Given the description of an element on the screen output the (x, y) to click on. 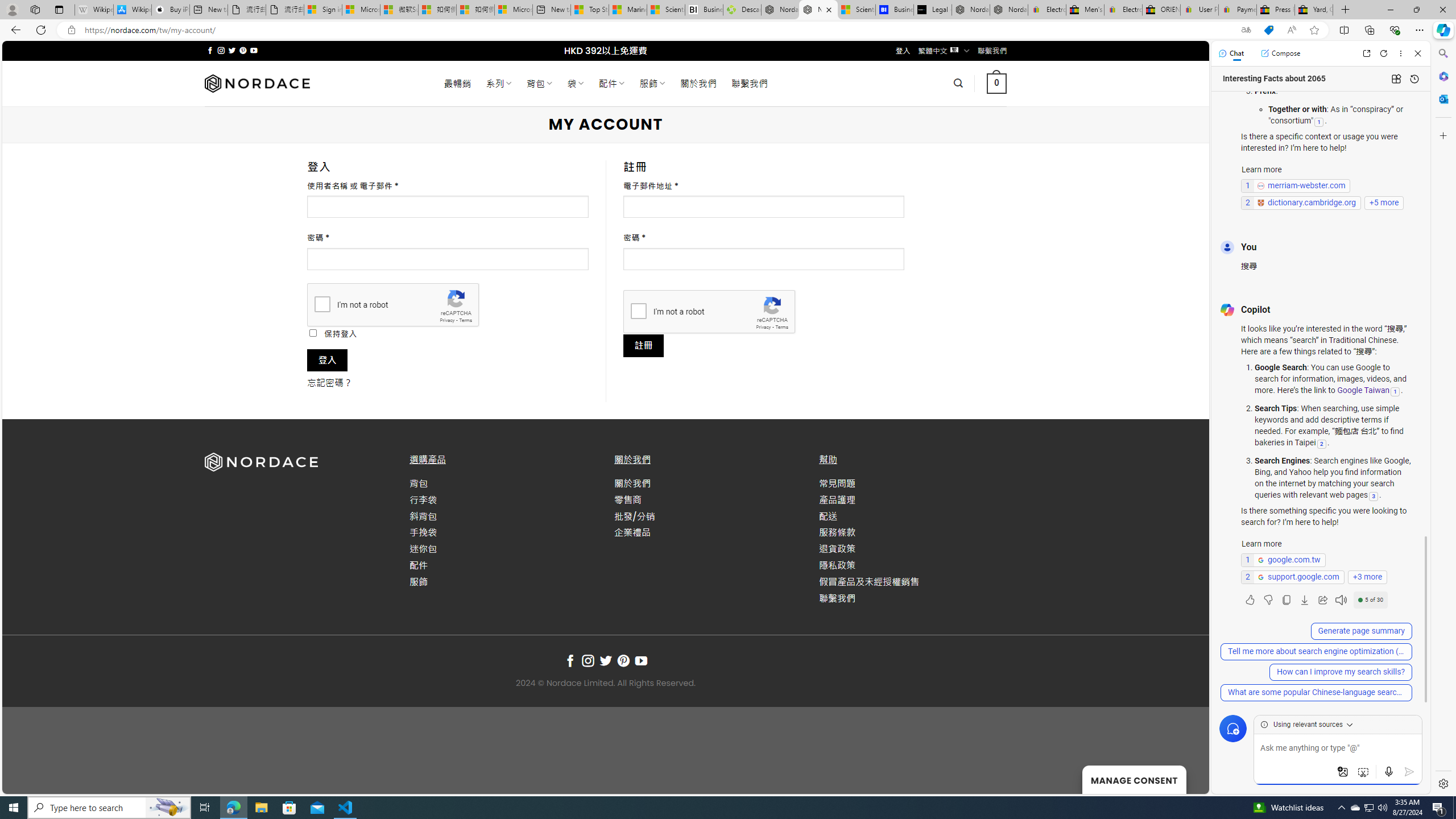
Follow on YouTube (640, 660)
  0   (995, 83)
